Given the description of an element on the screen output the (x, y) to click on. 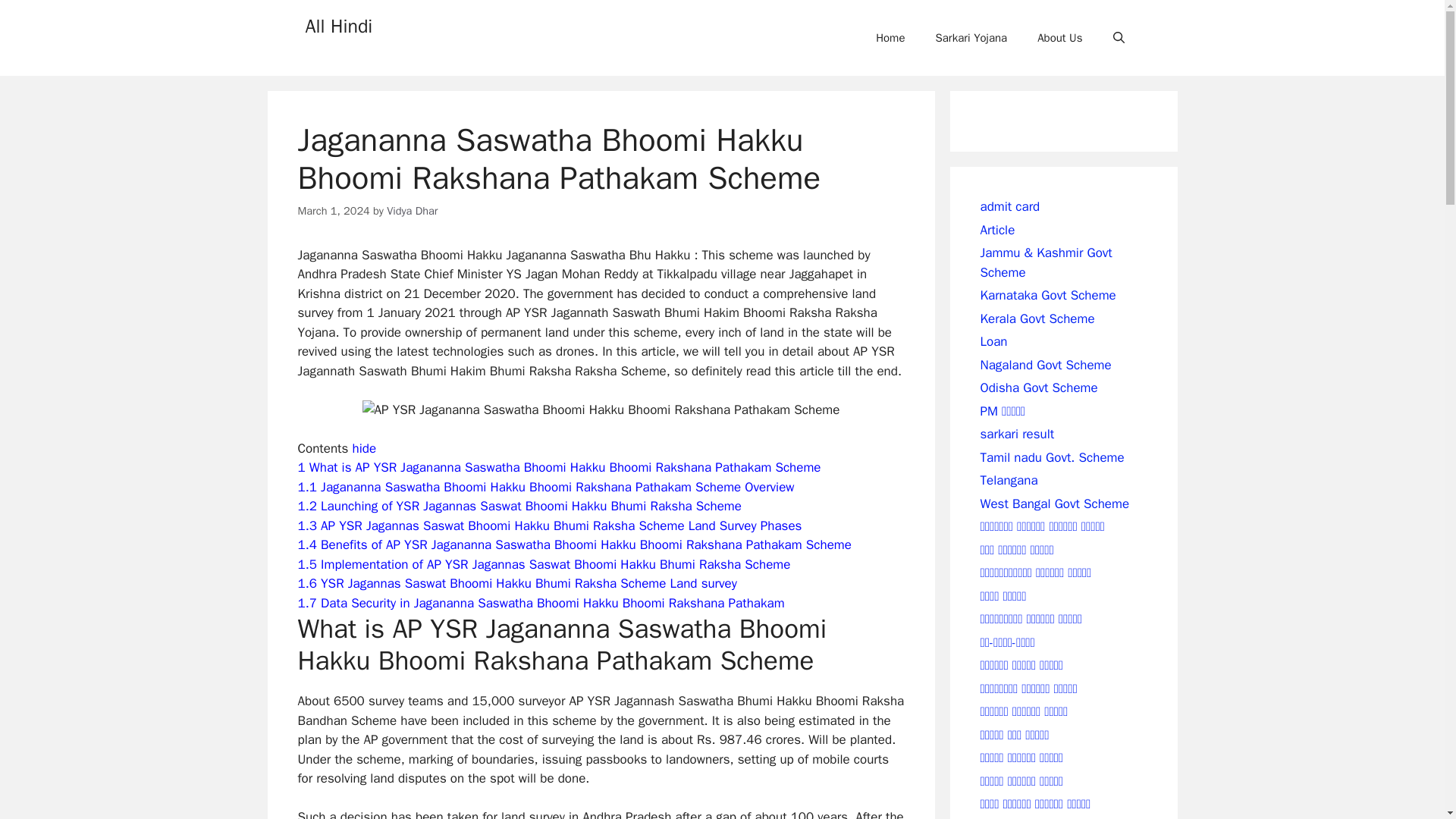
All Hindi (338, 25)
About Us (1059, 37)
Home (890, 37)
Loan (993, 341)
Article (996, 229)
